Given the description of an element on the screen output the (x, y) to click on. 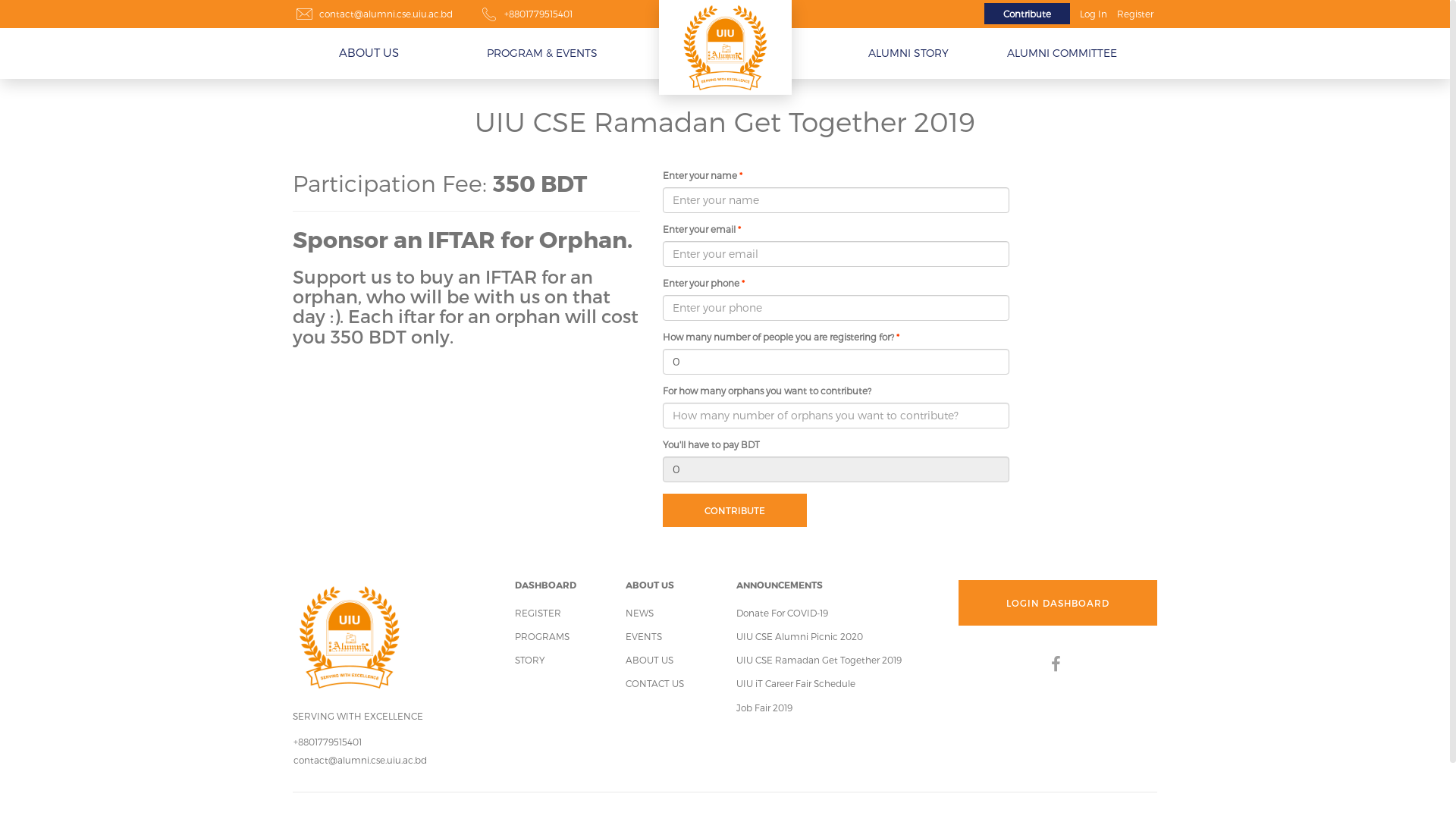
+8801779515401 Element type: text (538, 13)
Log In Element type: text (1093, 13)
Register Element type: text (1135, 13)
CONTRIBUTE Element type: text (734, 510)
Contribute Element type: text (1027, 13)
LOGIN DASHBOARD Element type: text (1057, 602)
contact@alumni.cse.uiu.ac.bd Element type: text (359, 759)
ALUMNI STORY Element type: text (907, 53)
UIU CSE Ramadan Get Together 2019 Element type: text (818, 659)
UIU CSE Alumni Picnic 2020 Element type: text (799, 635)
REGISTER Element type: text (537, 612)
Donate For COVID-19 Element type: text (782, 612)
ABOUT US Element type: text (649, 659)
NEWS Element type: text (639, 612)
ABOUT US Element type: text (368, 51)
STORY Element type: text (529, 659)
PROGRAMS Element type: text (541, 635)
+8801779515401 Element type: text (327, 741)
contact@alumni.cse.uiu.ac.bd Element type: text (385, 13)
CONTACT US Element type: text (654, 682)
UIU iT Career Fair Schedule Element type: text (795, 682)
ALUMNI COMMITTEE Element type: text (1061, 53)
Job Fair 2019 Element type: text (764, 707)
PROGRAM & EVENTS Element type: text (542, 53)
EVENTS Element type: text (643, 635)
